Given the description of an element on the screen output the (x, y) to click on. 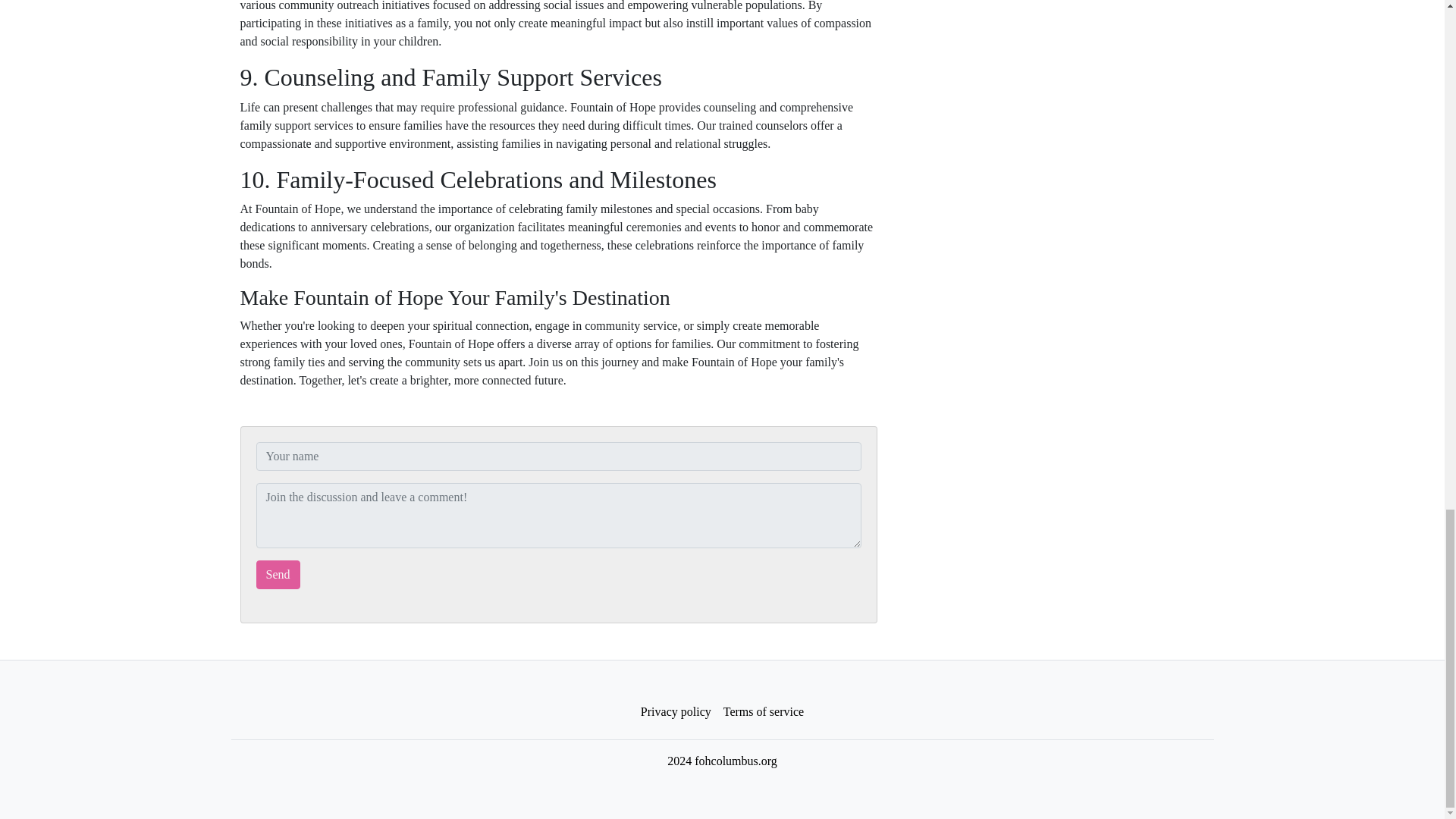
Terms of service (763, 711)
Send (277, 573)
Send (277, 573)
Privacy policy (675, 711)
